Given the description of an element on the screen output the (x, y) to click on. 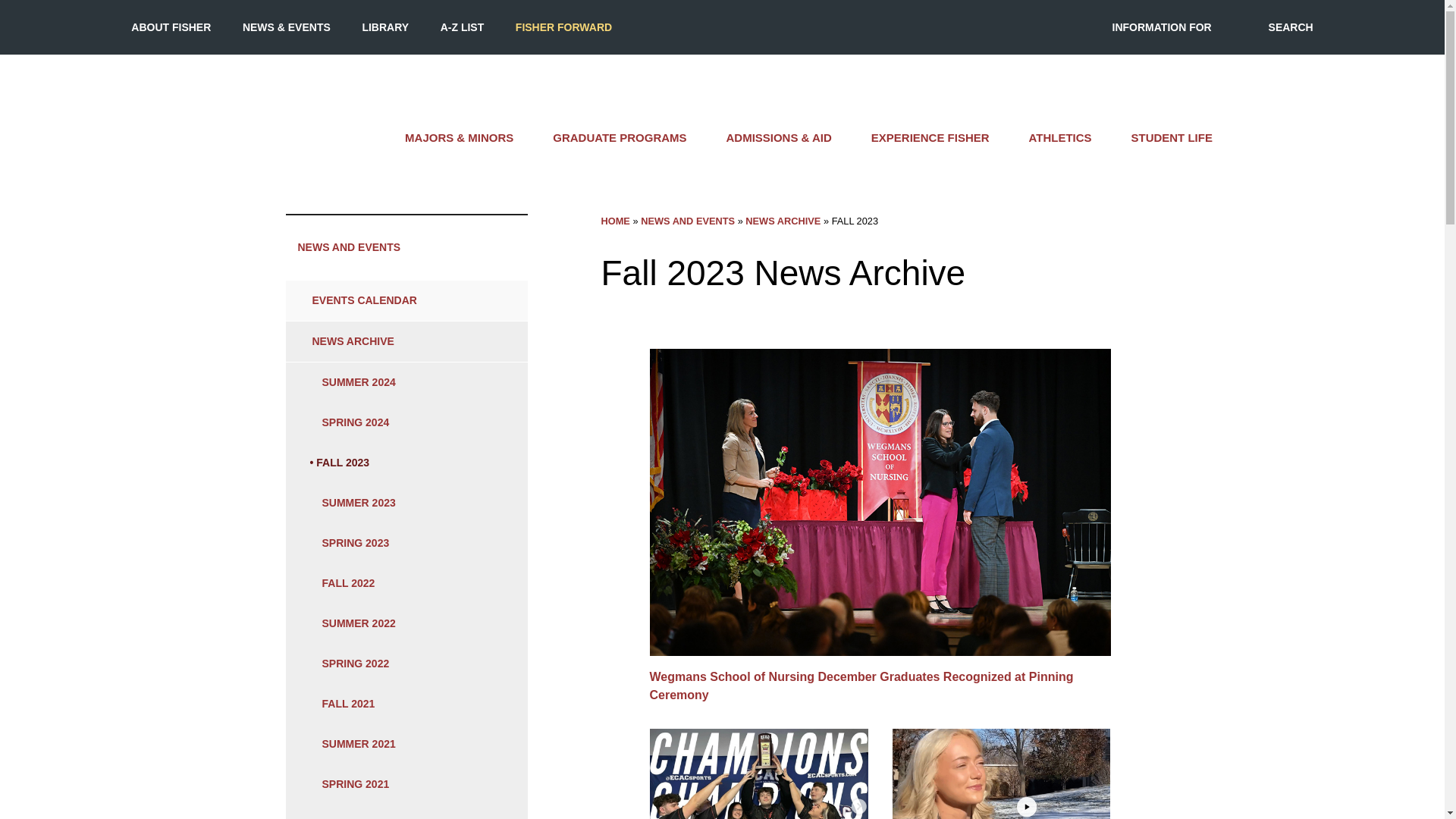
GRADUATE PROGRAMS (619, 137)
INFORMATION FOR (1161, 27)
SEARCH (1290, 27)
A-Z LIST (462, 27)
STUDENT LIFE (1171, 137)
SUMMER 2024 (406, 382)
LIBRARY (385, 27)
EVENTS CALENDAR (406, 300)
ATHLETICS (1059, 137)
NEWS ARCHIVE (388, 341)
